Given the description of an element on the screen output the (x, y) to click on. 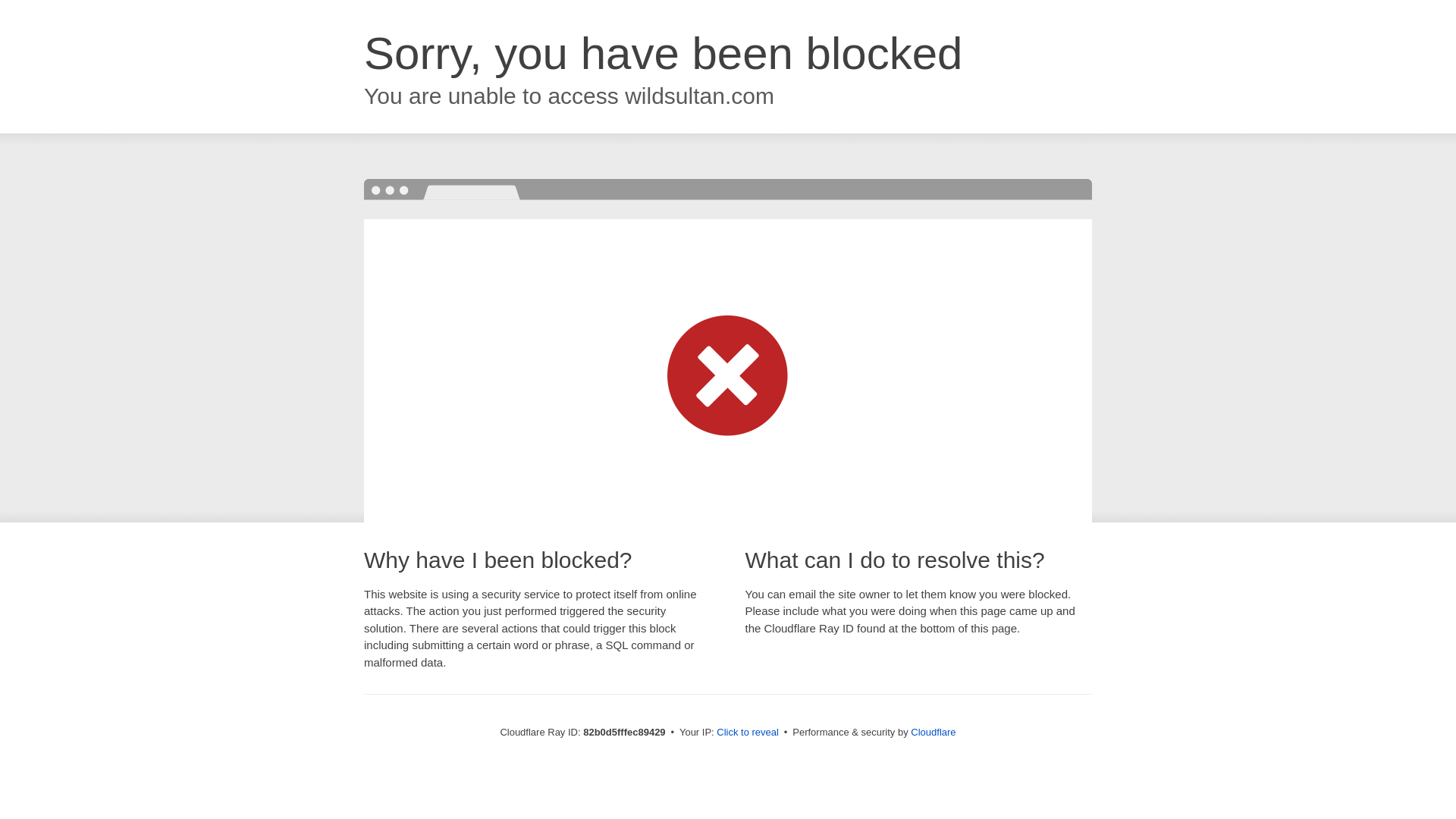
Click to reveal Element type: text (747, 732)
Cloudflare Element type: text (932, 731)
